Given the description of an element on the screen output the (x, y) to click on. 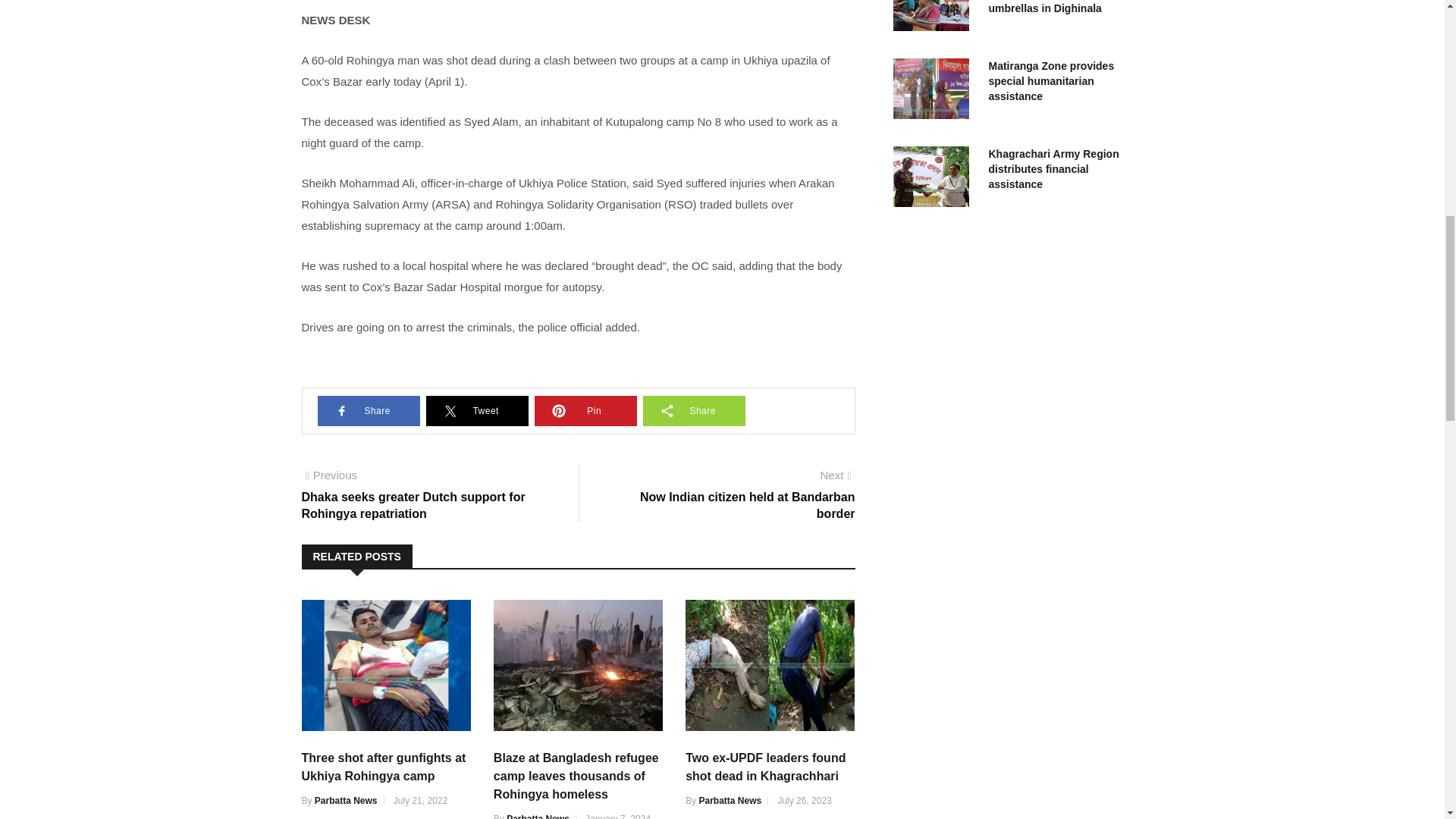
Parbatta News (736, 495)
Matiranga Zone provides special humanitarian assistance (345, 800)
Khagrachari Army Region distributes financial assistance (934, 91)
Three shot after gunfights at Ukhiya Rohingya camp (934, 179)
Two ex-UPDF leaders found shot dead in Khagrachhari (383, 766)
Parbatta News (765, 766)
Matiranga Zone provides special humanitarian assistance (537, 816)
Parbatta News (1051, 80)
